Given the description of an element on the screen output the (x, y) to click on. 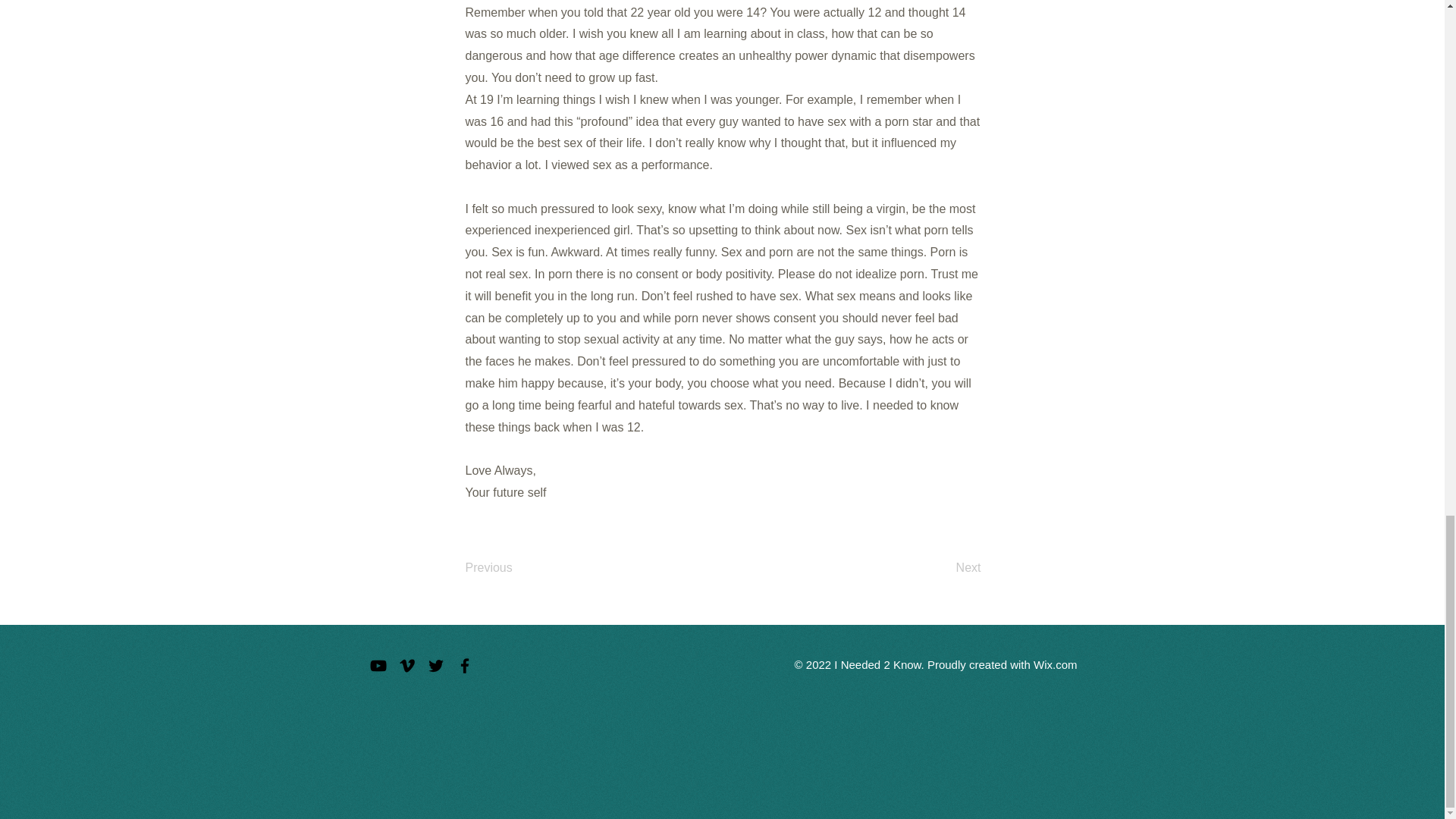
Wix.com (1055, 664)
Next (943, 567)
Previous (515, 567)
